Given the description of an element on the screen output the (x, y) to click on. 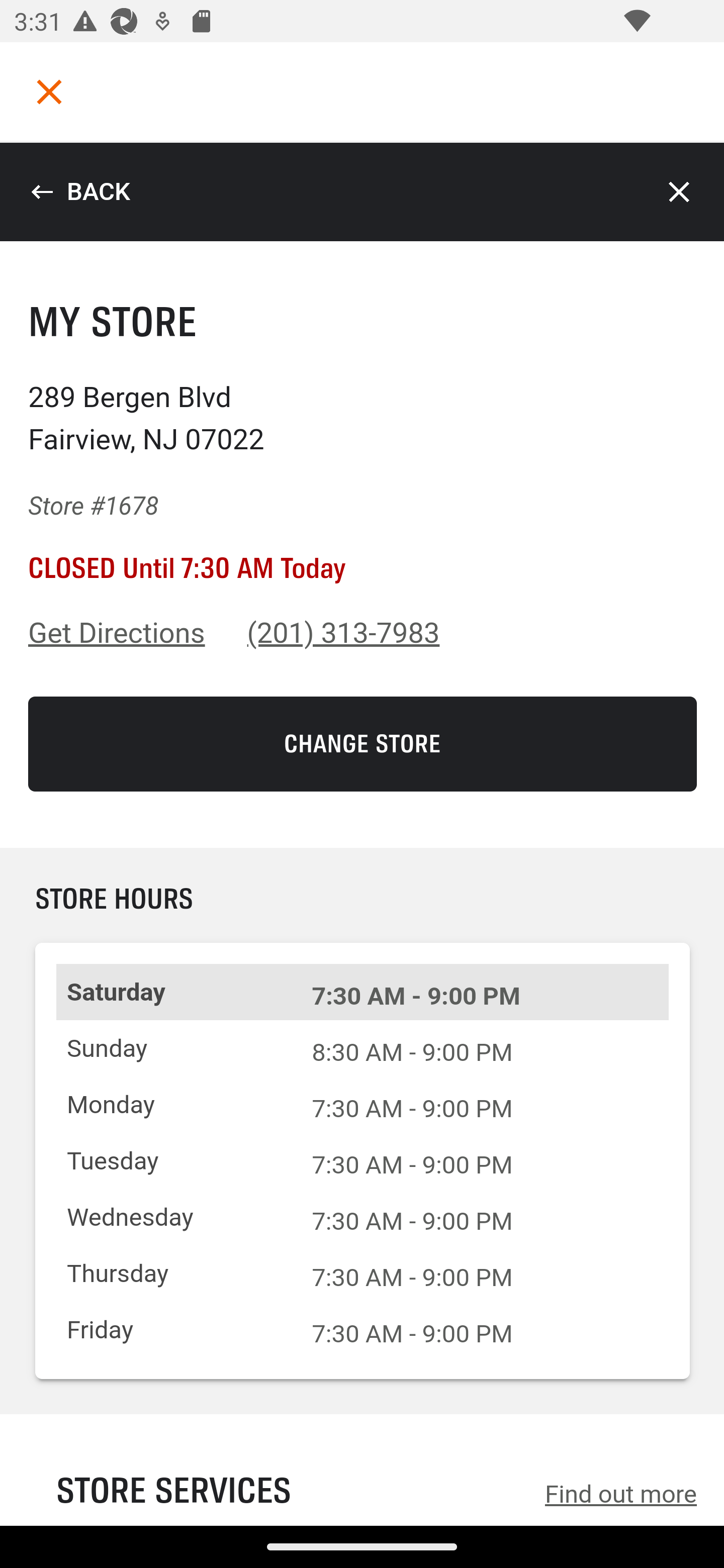
 (49, 91)
BACK (79, 192)
Close (679, 192)
Batteries (362, 450)
Engine Oil (362, 521)
Brake Pads Brake Pads Brake Pads (362, 594)
(201) 313-7983 (343, 633)
CHANGE STORE (363, 743)
Close icon Get the AutoZone App OPEN (362, 1456)
